Given the description of an element on the screen output the (x, y) to click on. 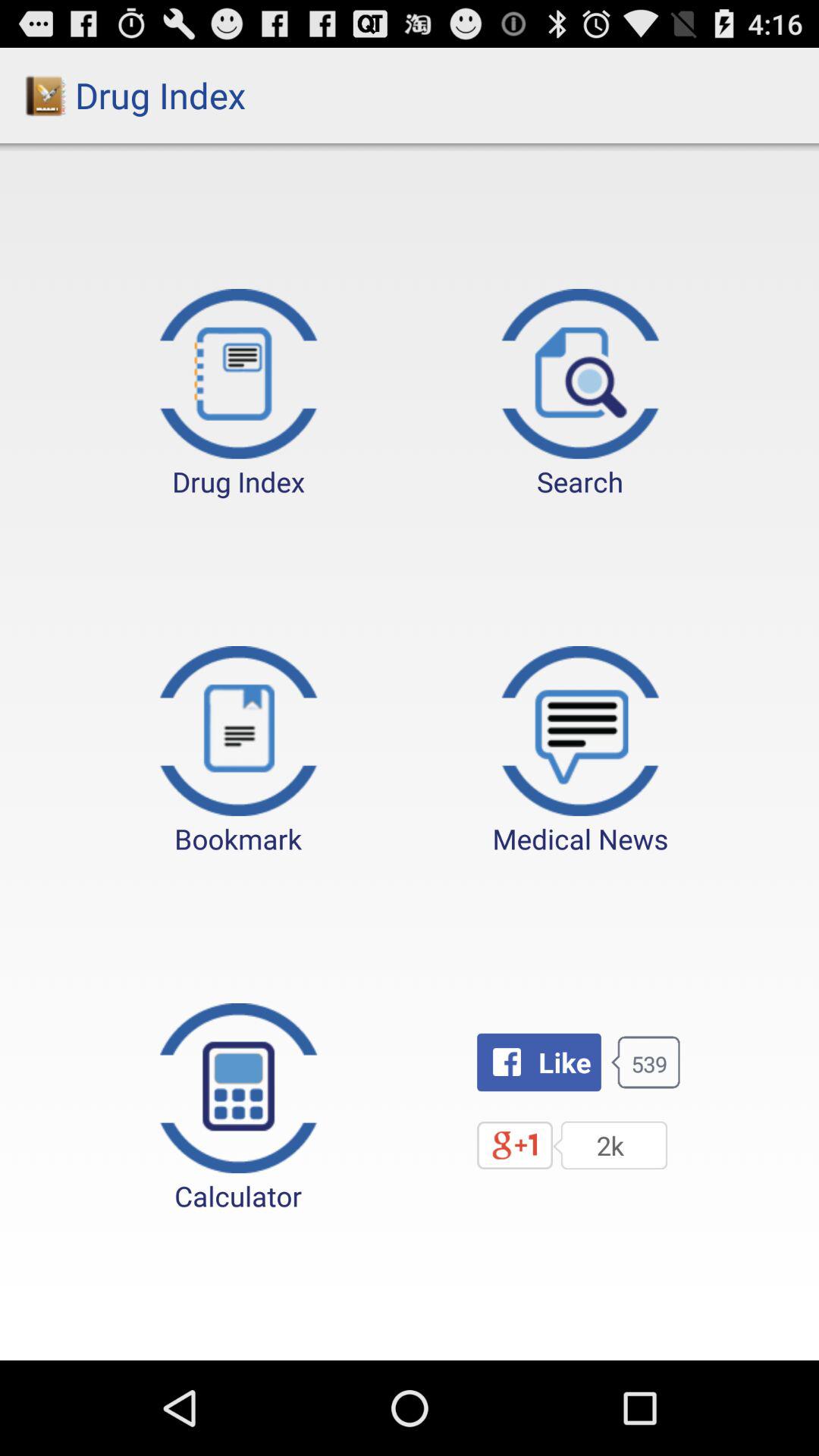
tap the icon next to the medical news icon (238, 751)
